Given the description of an element on the screen output the (x, y) to click on. 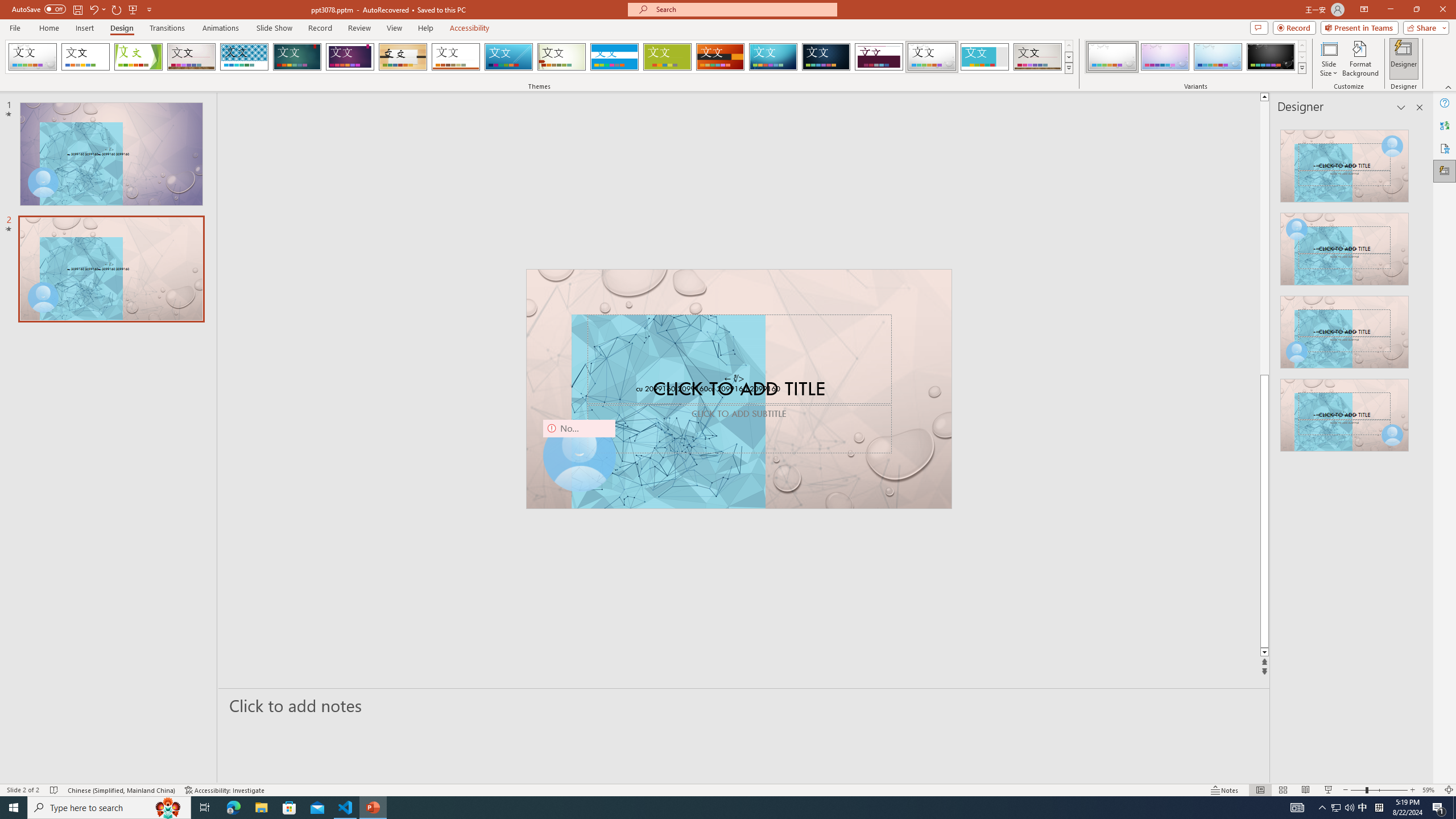
Recommended Design: Design Idea (1344, 162)
Integral (244, 56)
Gallery (1037, 56)
Droplet Variant 1 (1112, 56)
Slice (508, 56)
Subtitle TextBox (739, 428)
